Given the description of an element on the screen output the (x, y) to click on. 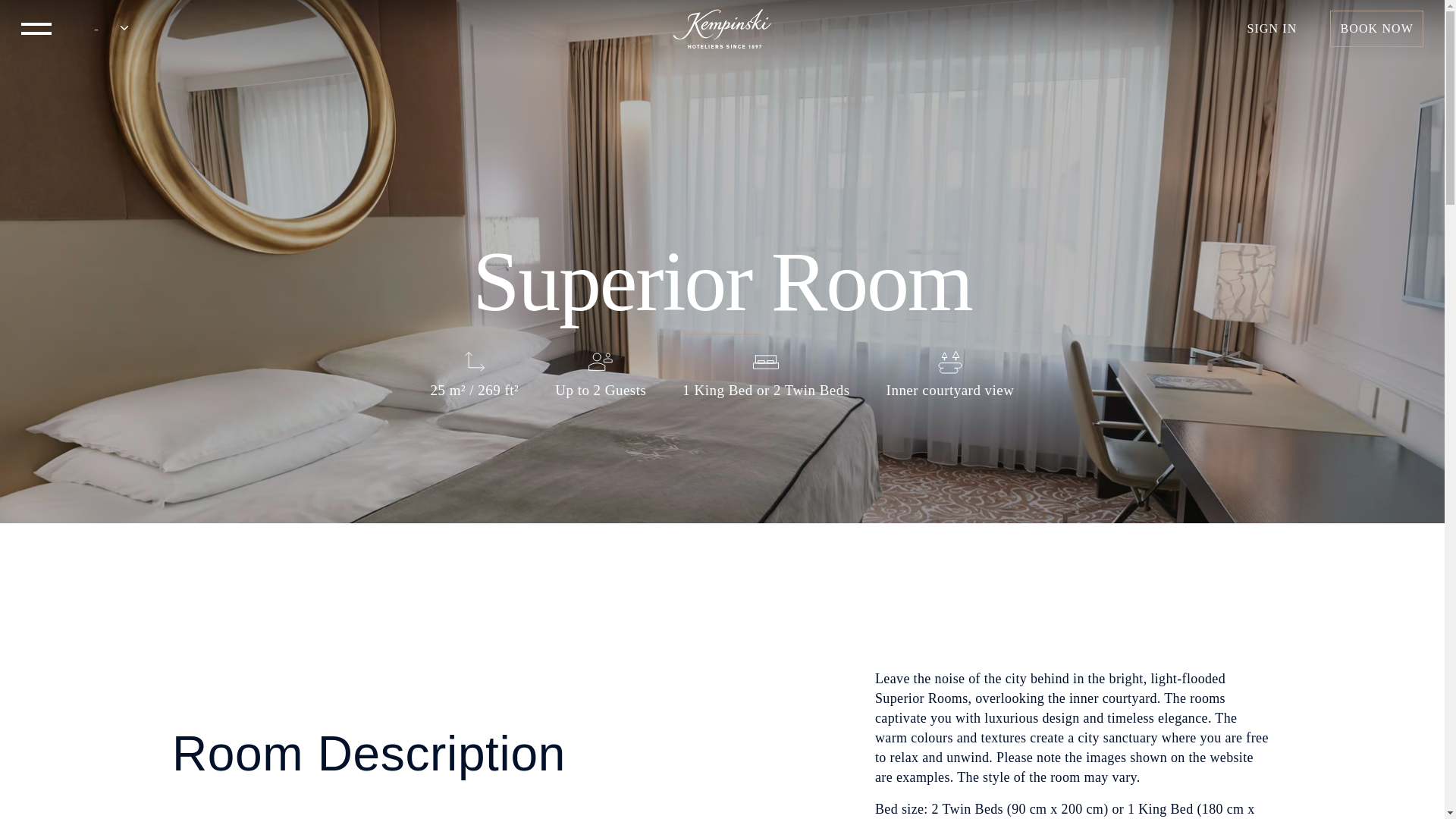
SIGN IN (1271, 28)
BOOK NOW (1376, 28)
